Given the description of an element on the screen output the (x, y) to click on. 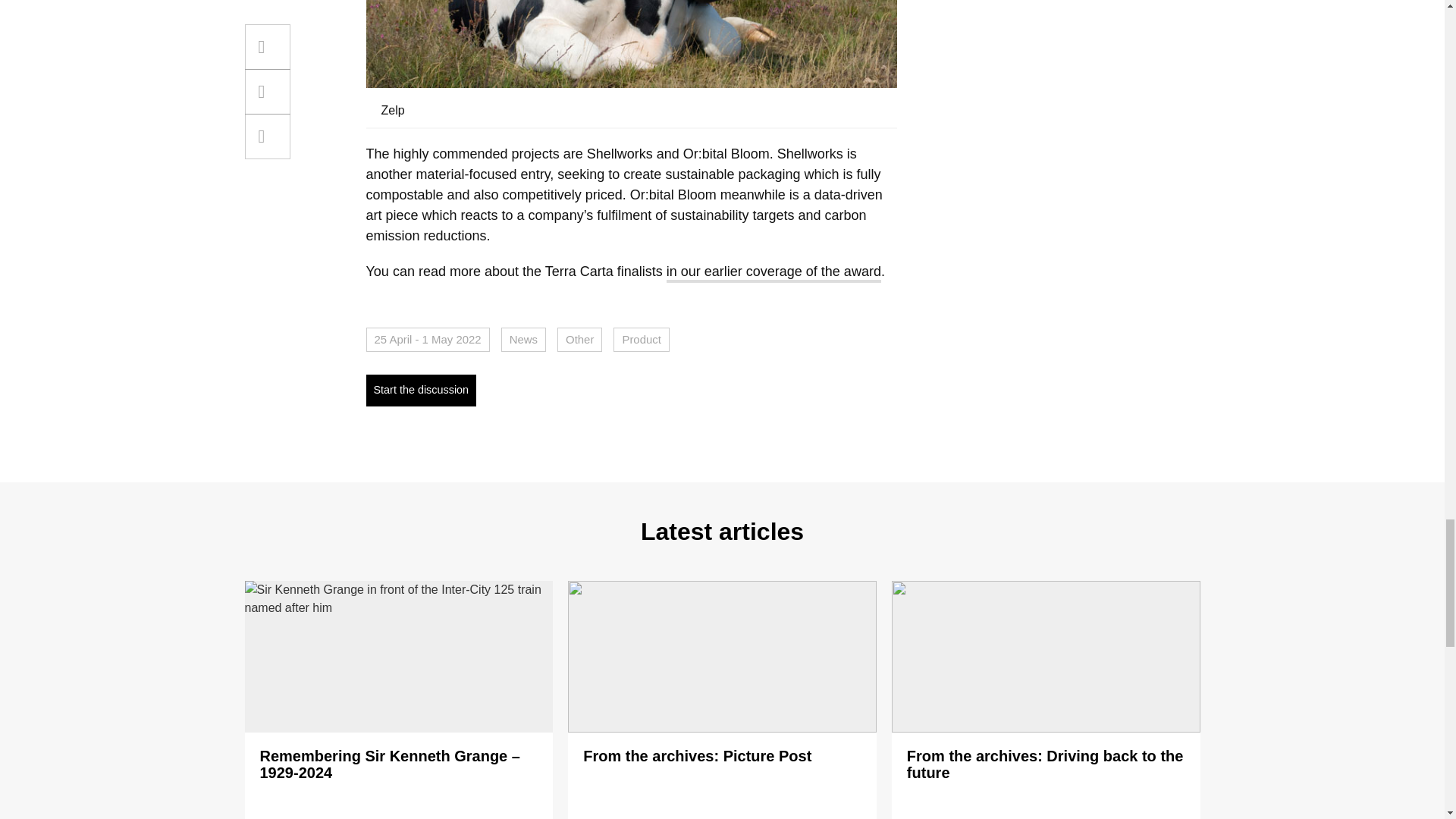
25 April - 1 May 2022 (427, 339)
News (523, 339)
Other (579, 339)
Start the discussion (420, 390)
From the archives: Picture Post (696, 755)
From the archives: Driving back to the future (1045, 764)
Product (640, 339)
in our earlier coverage of the award (773, 272)
